Given the description of an element on the screen output the (x, y) to click on. 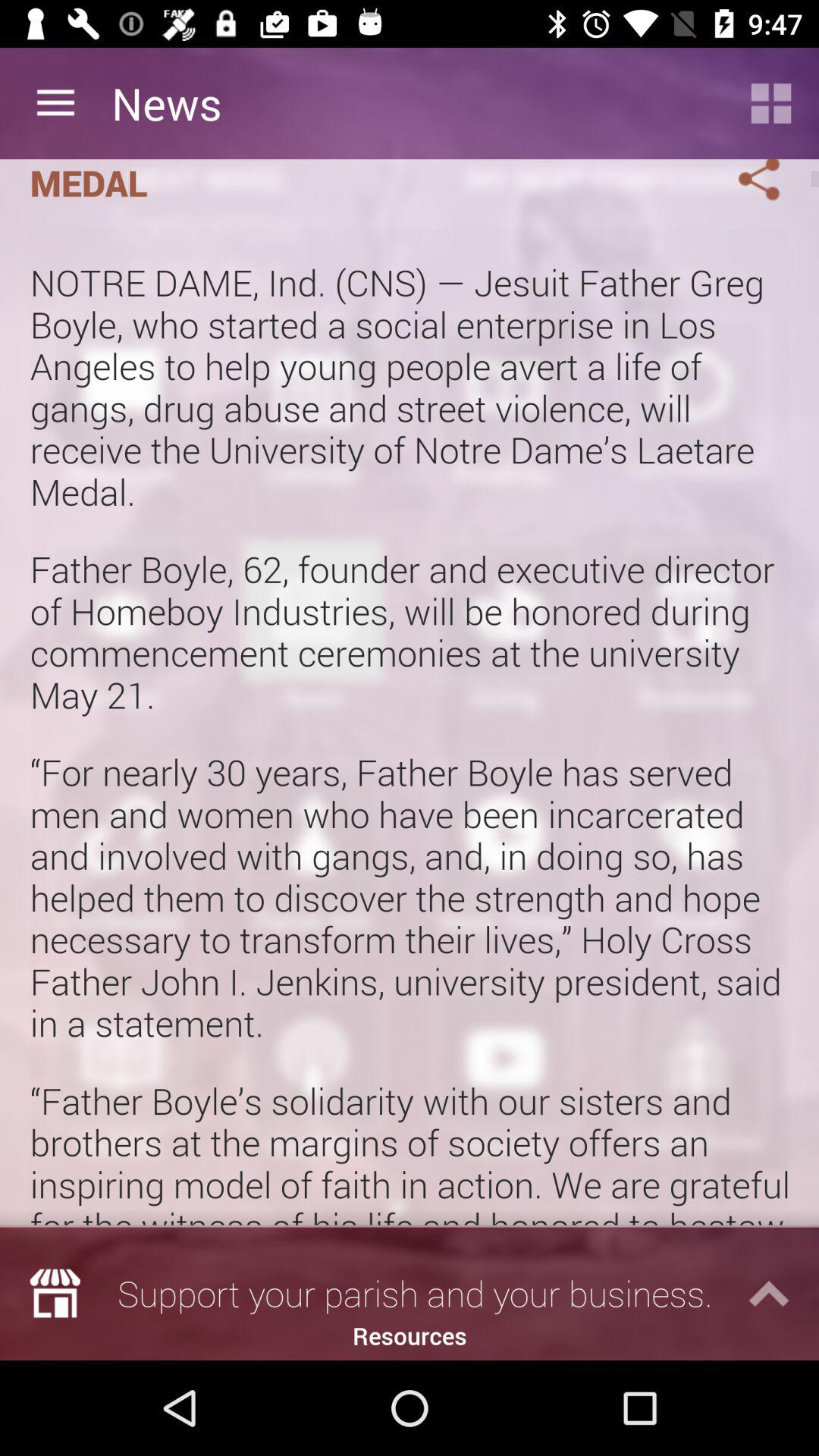
choose icon to the right of the news item (771, 103)
